Given the description of an element on the screen output the (x, y) to click on. 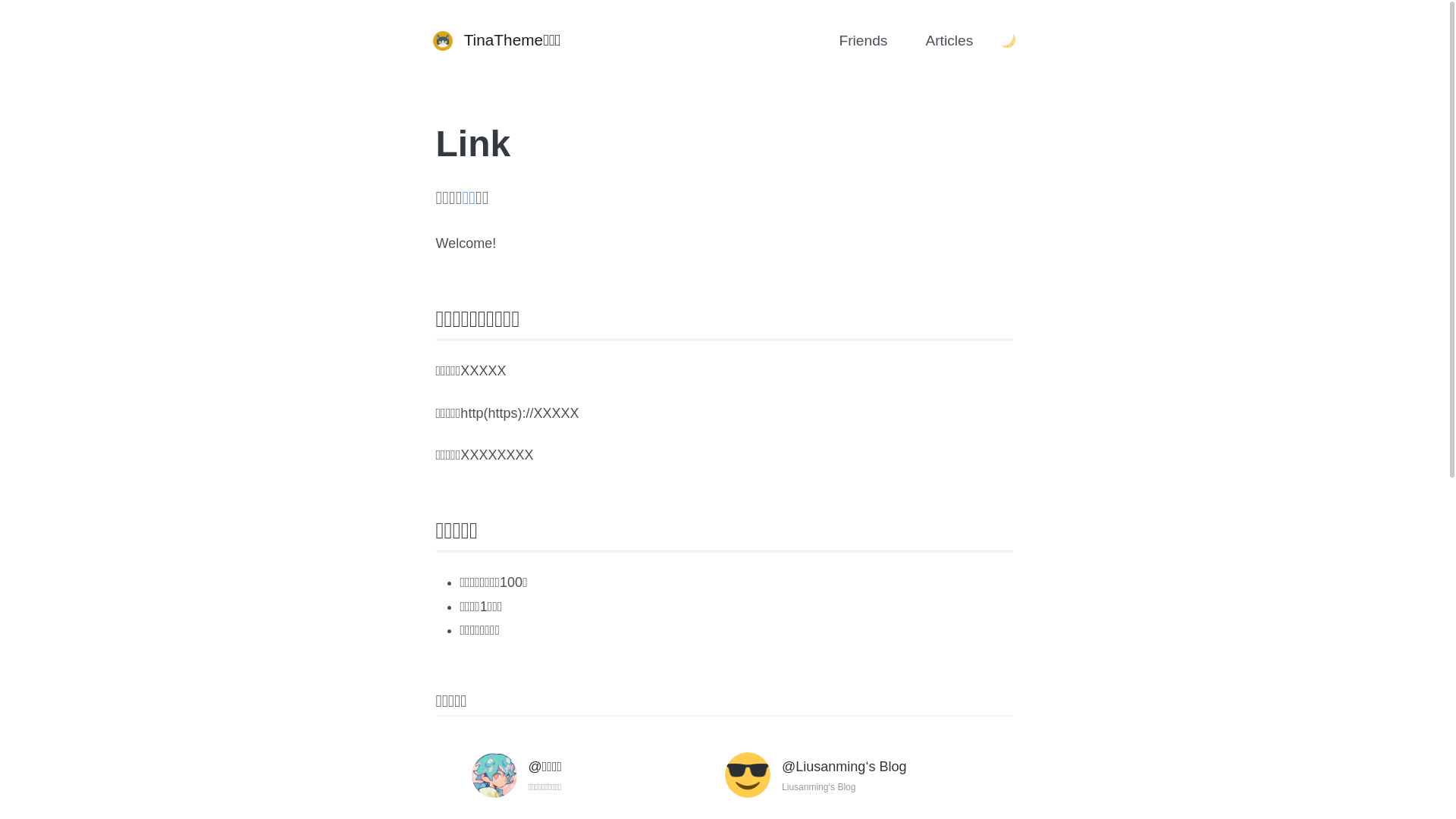
Friends Element type: text (862, 40)
Articles Element type: text (948, 40)
